Given the description of an element on the screen output the (x, y) to click on. 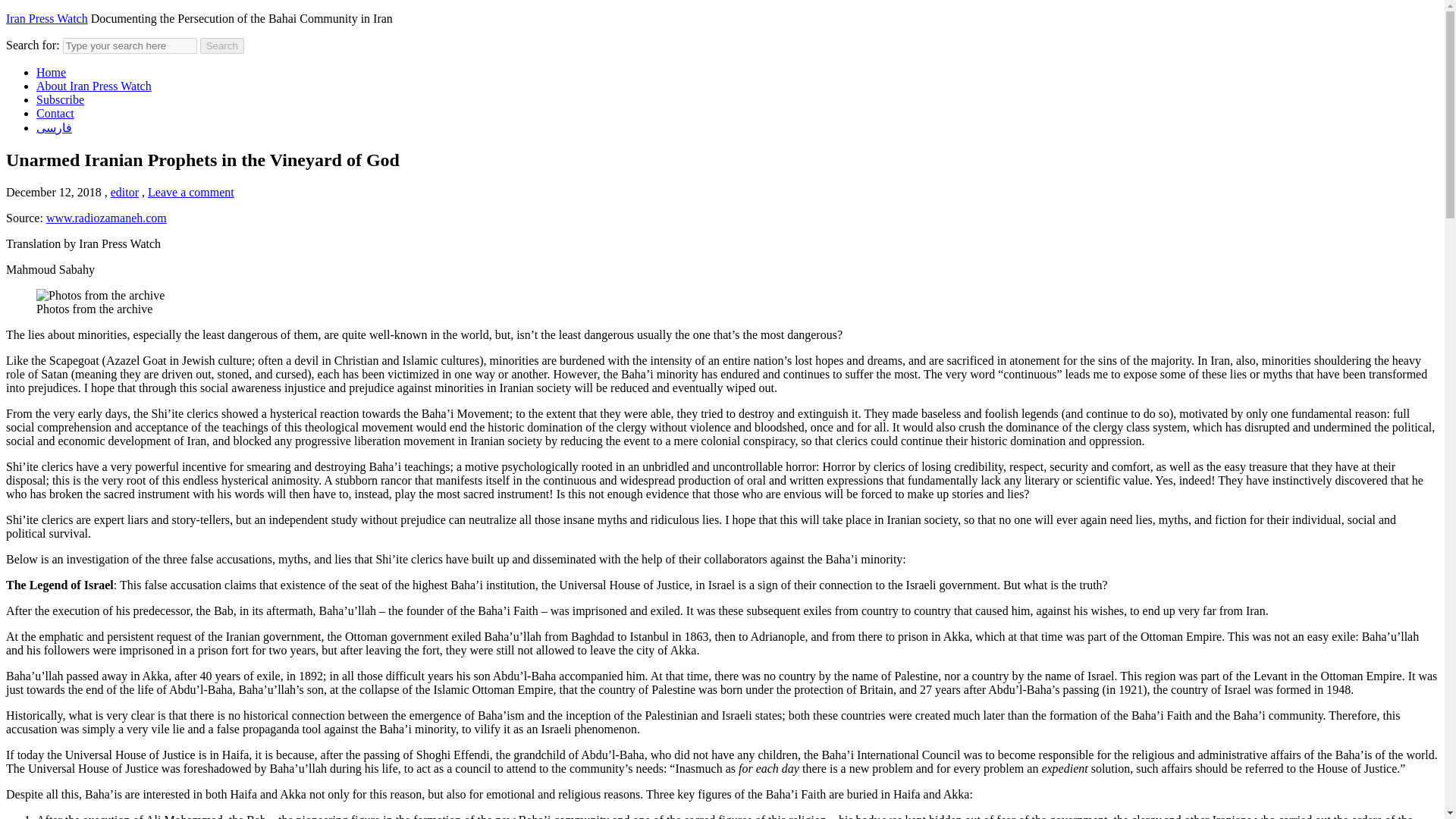
Search (222, 45)
editor (124, 192)
Subscribe (60, 99)
Leave a comment (191, 192)
Contact (55, 113)
Home (50, 72)
About Iran Press Watch (93, 85)
Posts by editor (124, 192)
www.radiozamaneh.com (106, 217)
Iran Press Watch (46, 18)
